Given the description of an element on the screen output the (x, y) to click on. 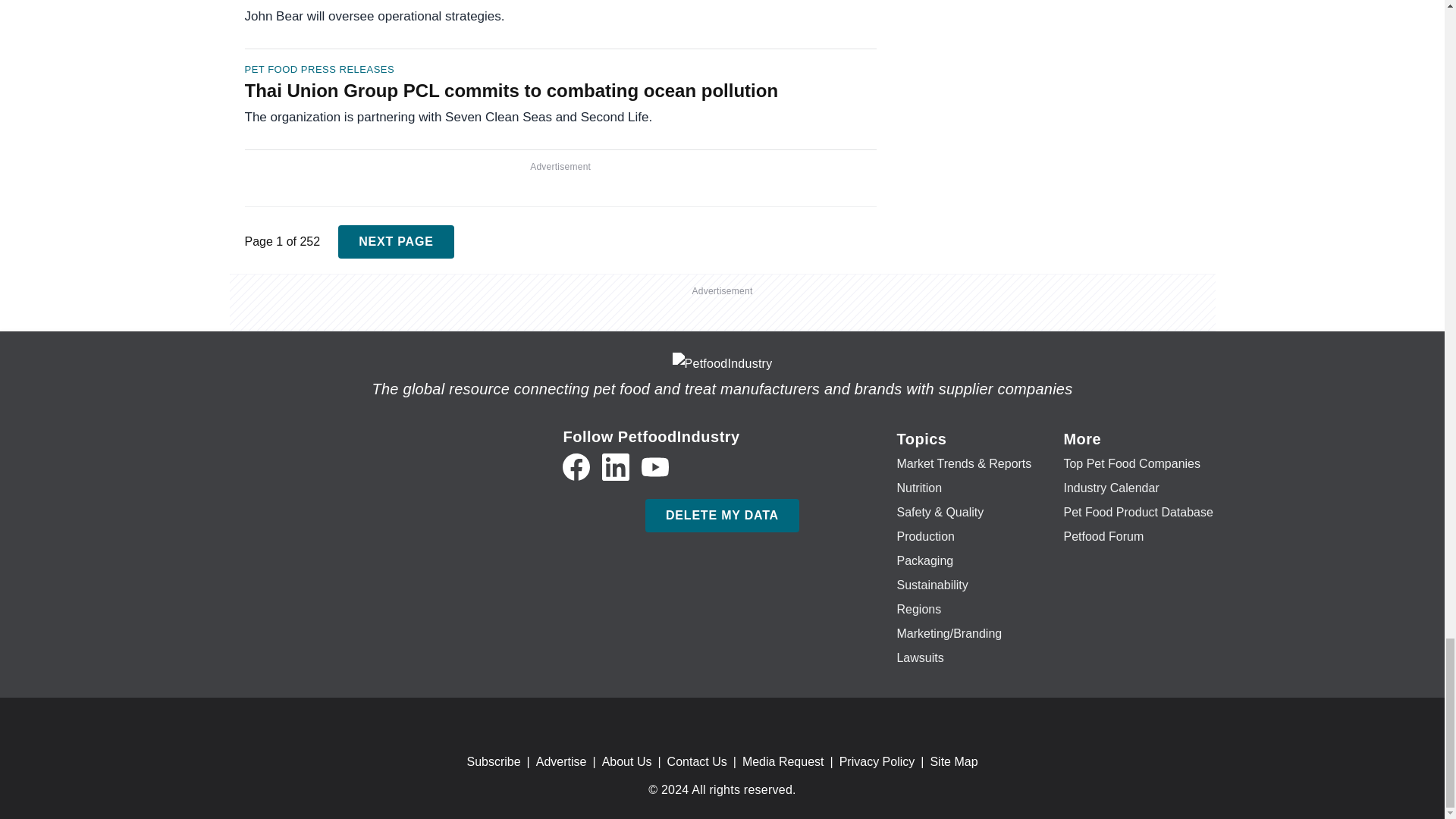
LinkedIn icon (615, 466)
YouTube icon (655, 466)
Facebook icon (575, 466)
